Given the description of an element on the screen output the (x, y) to click on. 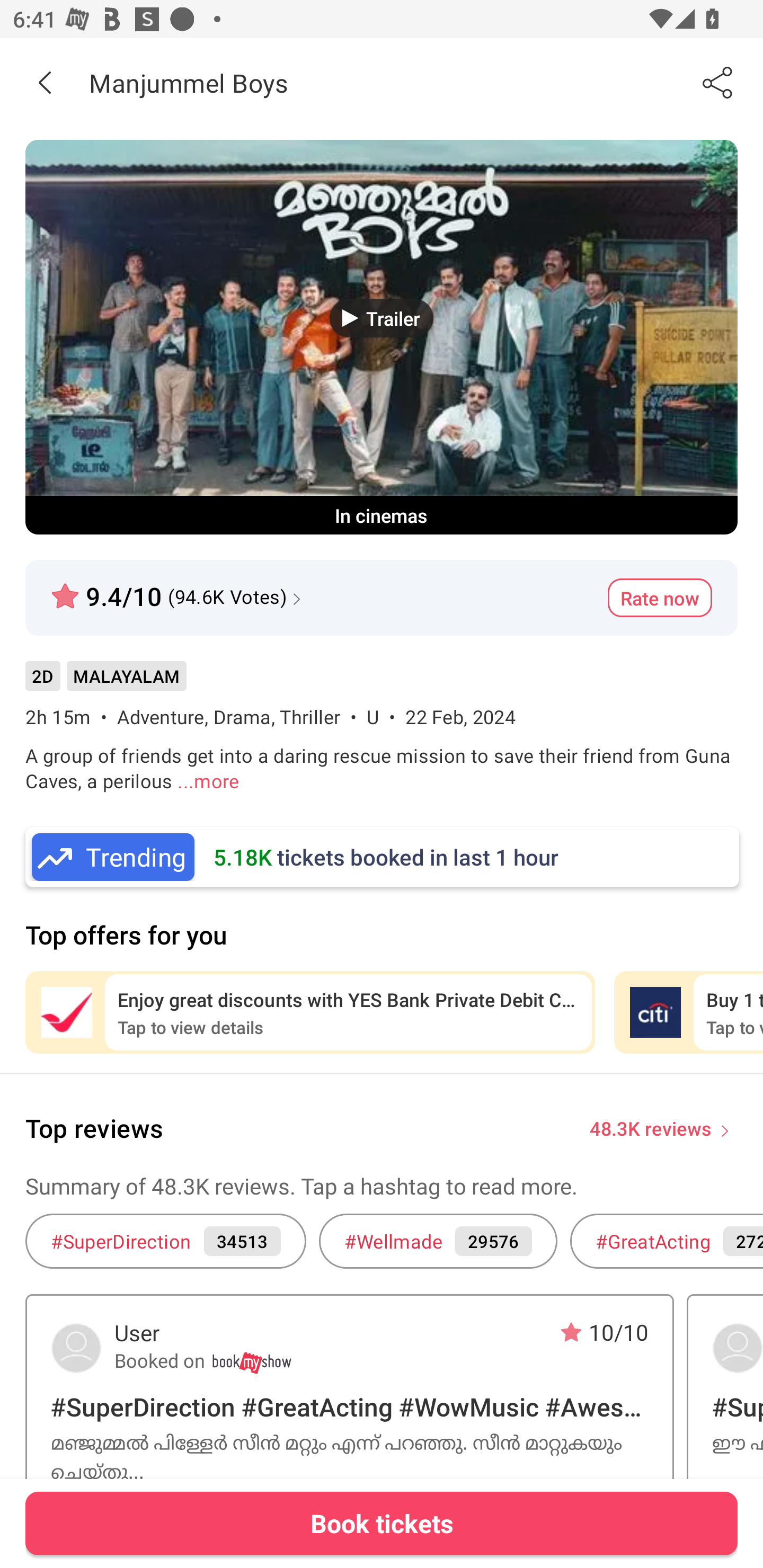
Back (44, 82)
Share (718, 82)
Movie Banner Trailer In cinemas (381, 336)
Trailer (381, 318)
9.4/10 (94.6K Votes) (178, 589)
Rate now (659, 597)
2D MALAYALAM (105, 682)
48.3K reviews (650, 1127)
#SuperDirection 34513 (165, 1240)
#Wellmade 29576 (437, 1240)
#GreatActing 27297 (666, 1240)
Book tickets (381, 1523)
